Given the description of an element on the screen output the (x, y) to click on. 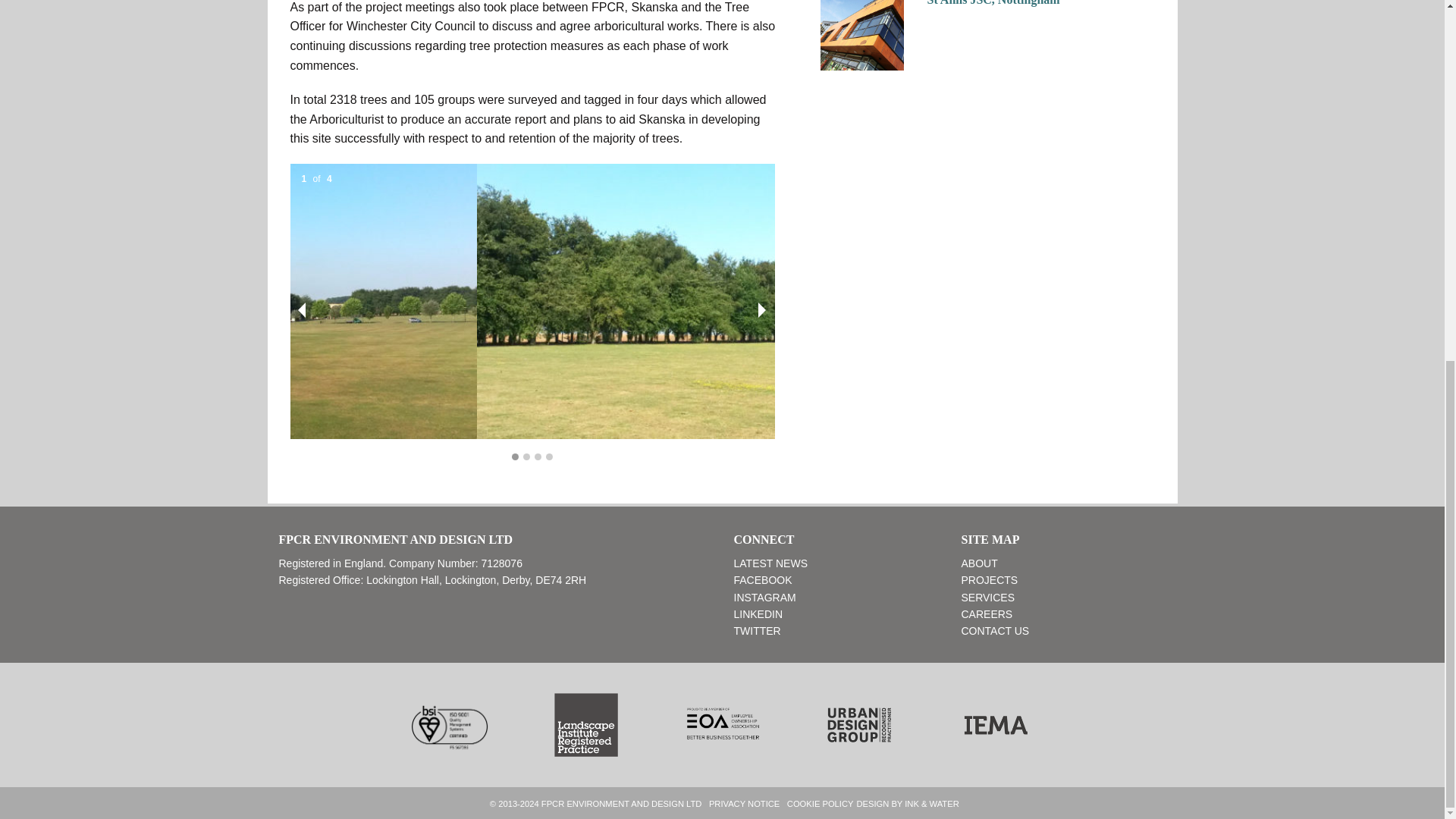
LATEST NEWS (770, 563)
PROJECTS (988, 580)
INSTAGRAM (764, 597)
COOKIE POLICY (820, 803)
St Anns JSC, Nottingham (992, 2)
ABOUT (978, 563)
TWITTER (756, 630)
FACEBOOK (762, 580)
SERVICES (987, 597)
CONTACT US (994, 630)
PRIVACY NOTICE (743, 803)
CAREERS (986, 613)
LINKEDIN (758, 613)
FPCR ENVIRONMENT AND DESIGN LTD (621, 803)
